Given the description of an element on the screen output the (x, y) to click on. 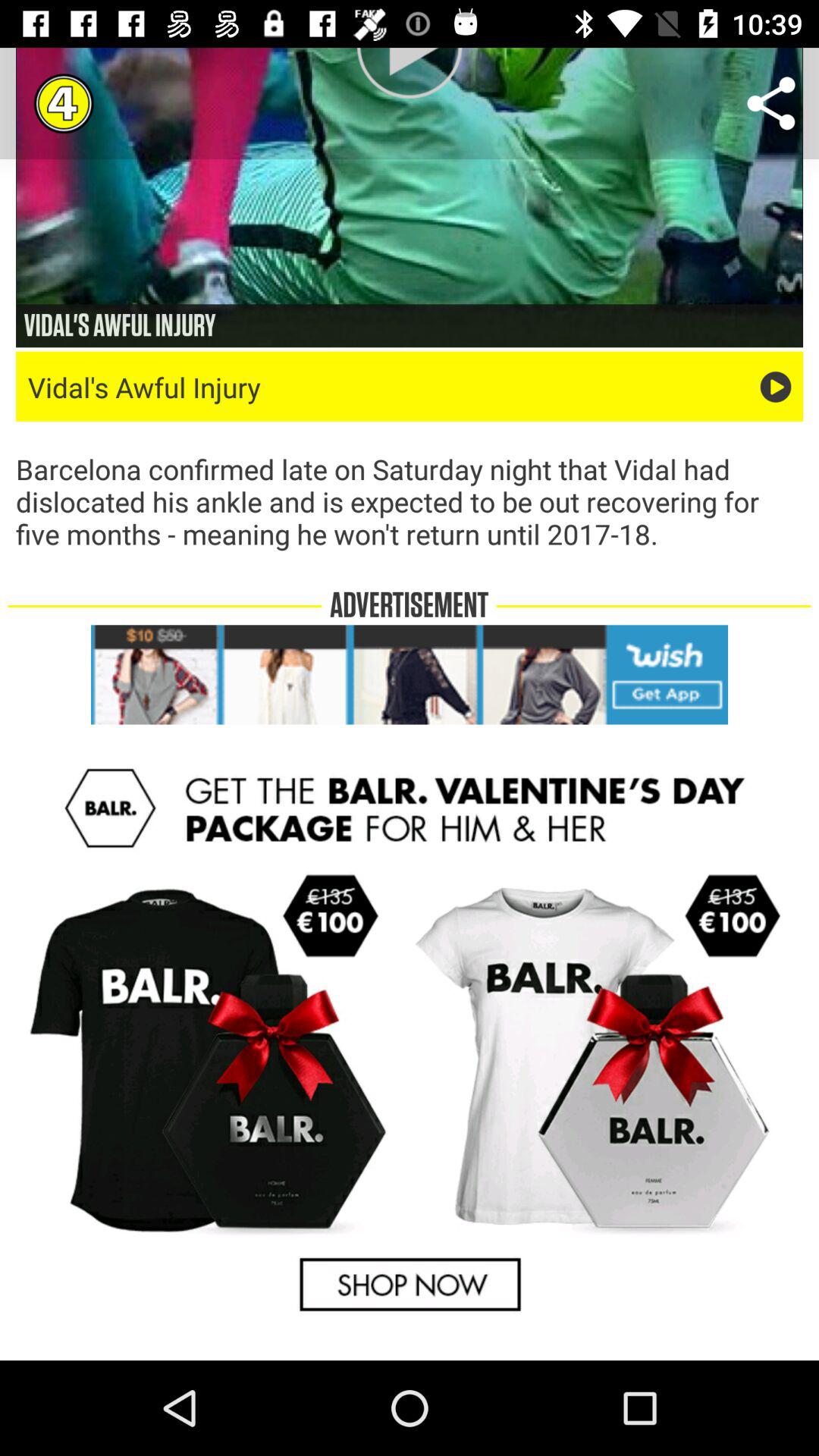
advertisement (409, 1040)
